Given the description of an element on the screen output the (x, y) to click on. 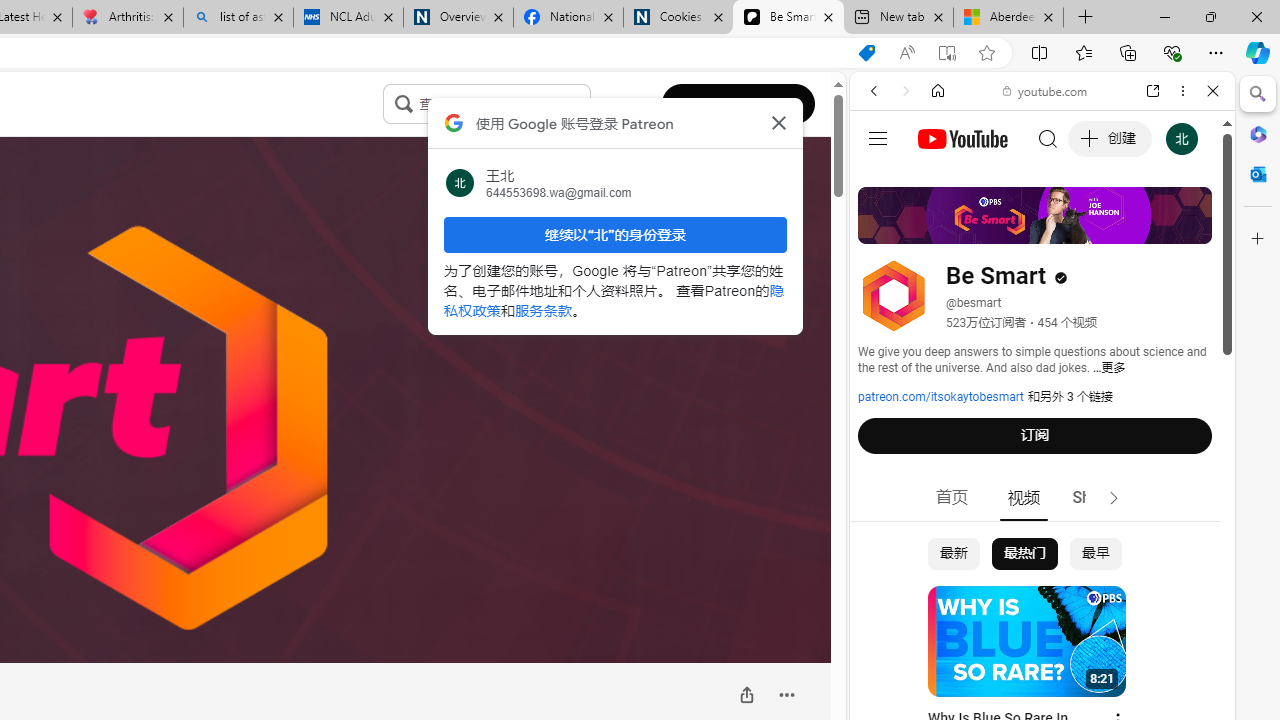
Search the web (1051, 137)
Google (1042, 494)
Preferences (1189, 228)
Class: Bz112c Bz112c-r9oPif (778, 122)
Search Filter, VIDEOS (1006, 228)
list of asthma inhalers uk - Search (238, 17)
YouTube (1034, 296)
Search Filter, IMAGES (939, 228)
